Given the description of an element on the screen output the (x, y) to click on. 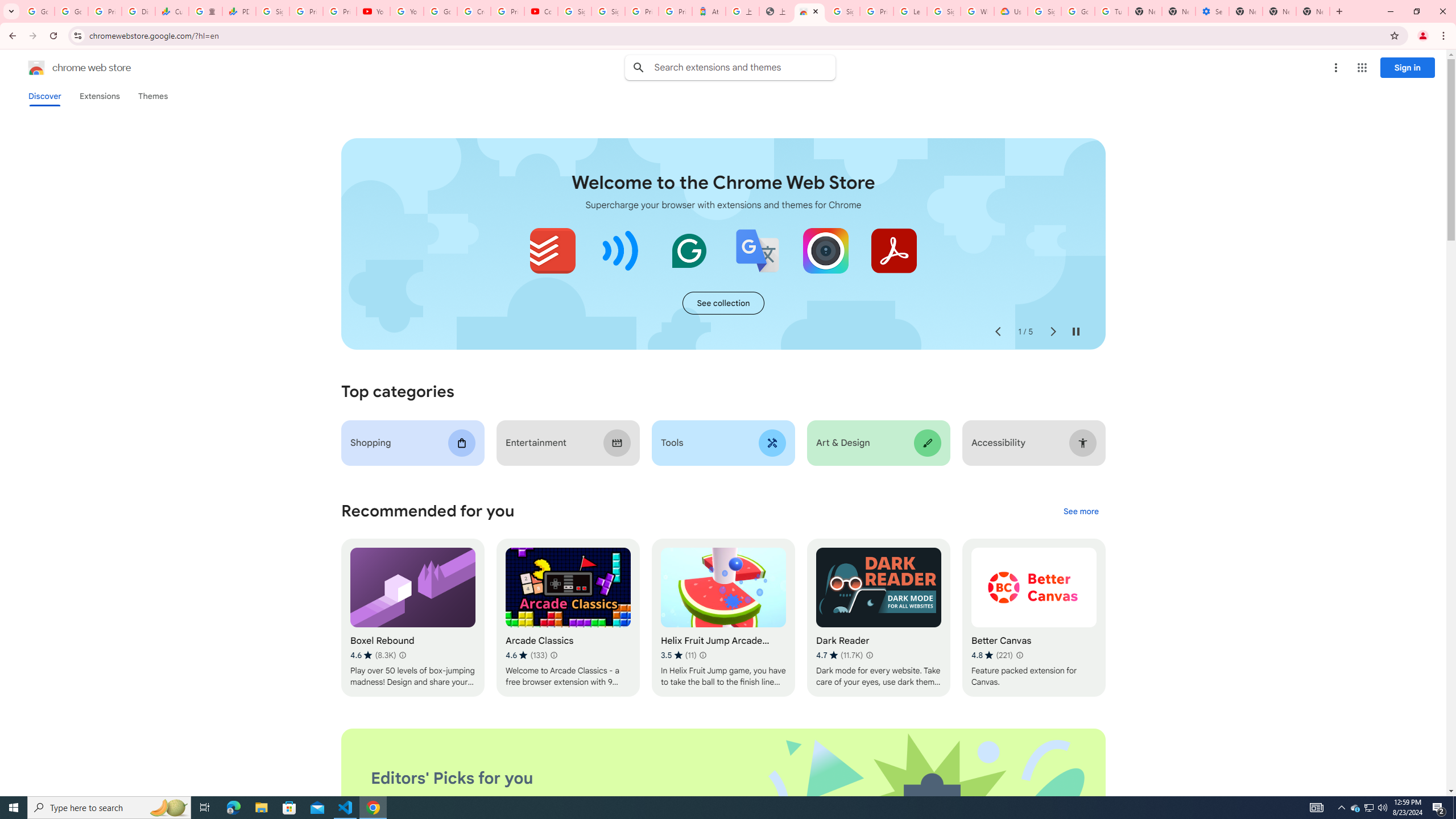
Next slide (1052, 331)
